Given the description of an element on the screen output the (x, y) to click on. 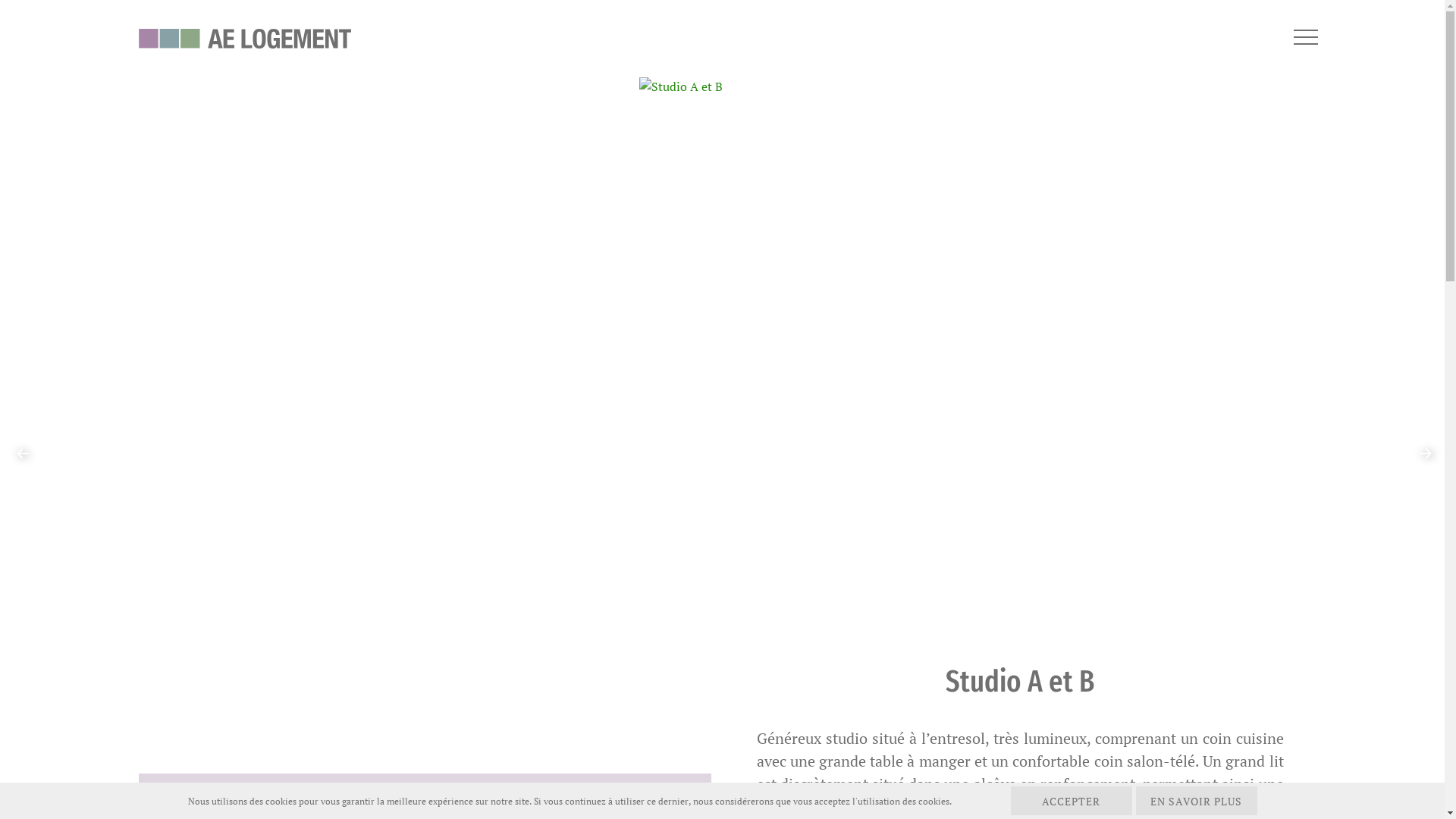
EN SAVOIR PLUS Element type: text (1196, 800)
ACCEPTER Element type: text (1070, 800)
